Given the description of an element on the screen output the (x, y) to click on. 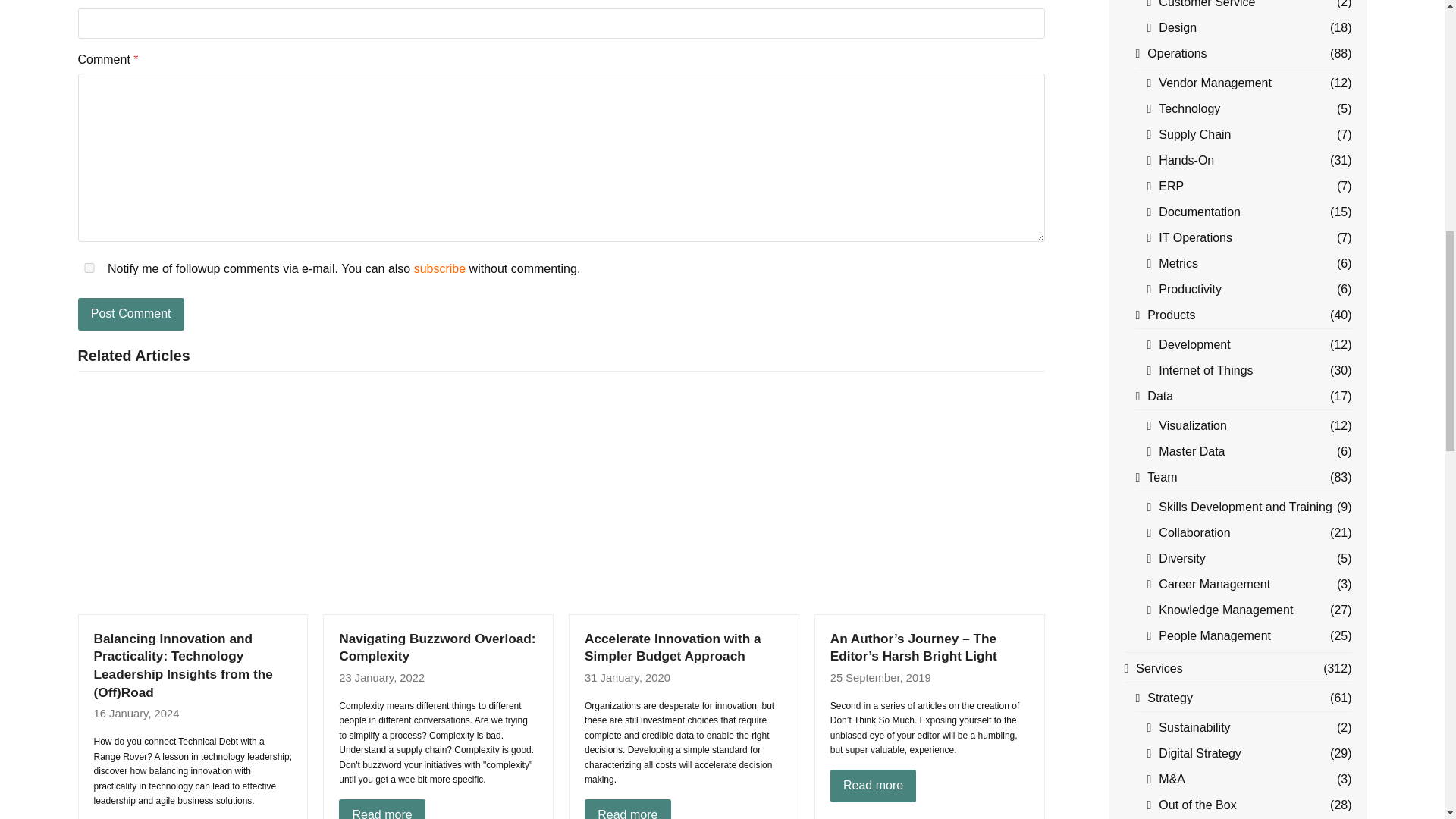
Navigating Buzzword Overload: Complexity (436, 499)
yes (88, 267)
Read more (873, 786)
subscribe (439, 268)
Read more (382, 809)
Read more (628, 809)
Accelerate Innovation with a Simpler Budget Approach (673, 647)
Accelerate Innovation with a Simpler Budget Approach (682, 499)
Post Comment (130, 314)
Post Comment (130, 314)
